Given the description of an element on the screen output the (x, y) to click on. 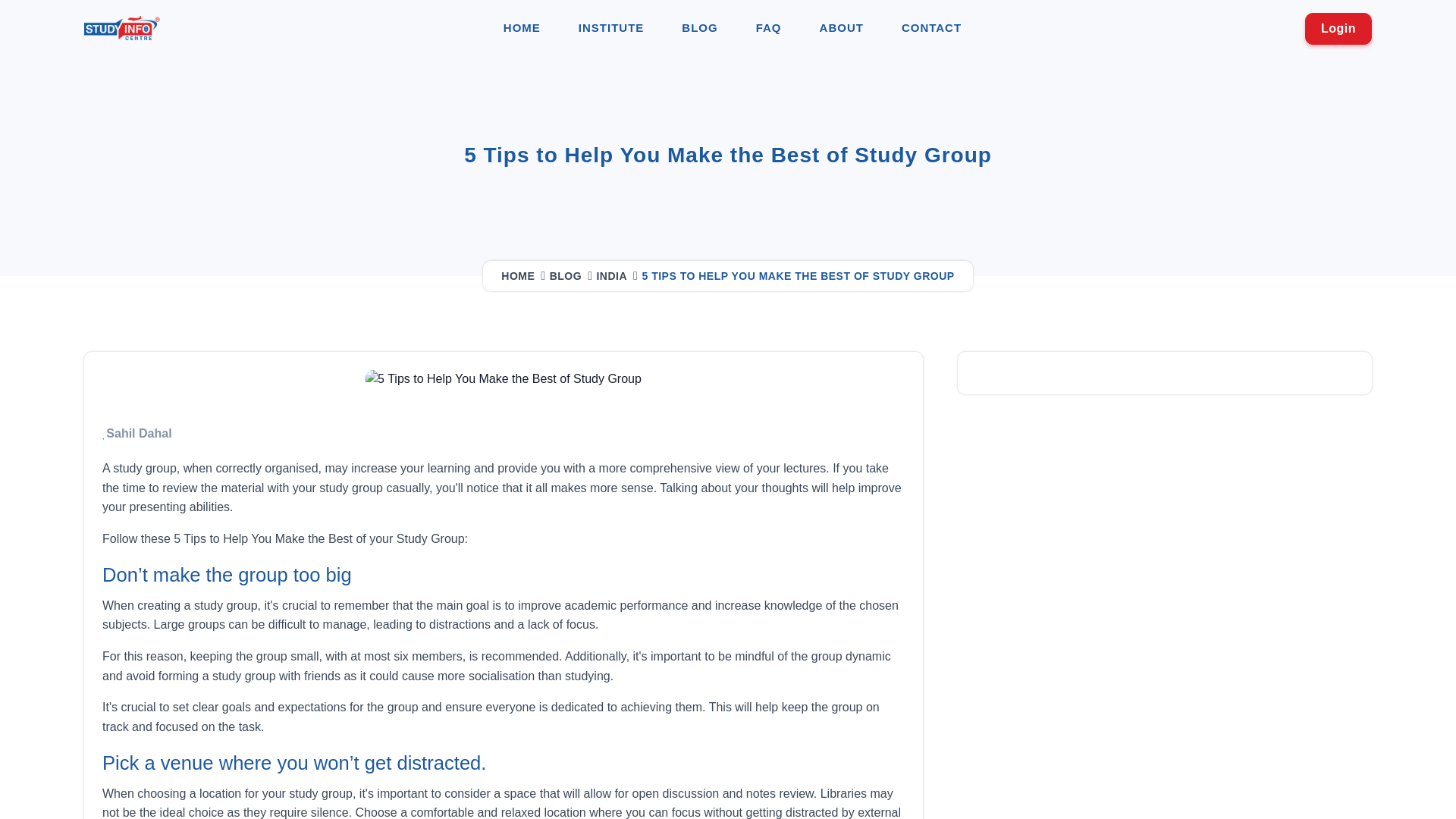
INDIA (614, 275)
Login (1337, 29)
CONTACT (930, 28)
HOME (520, 275)
HOME (521, 28)
ABOUT (841, 28)
INSTITUTE (611, 28)
BLOG (699, 28)
BLOG (569, 275)
